Given the description of an element on the screen output the (x, y) to click on. 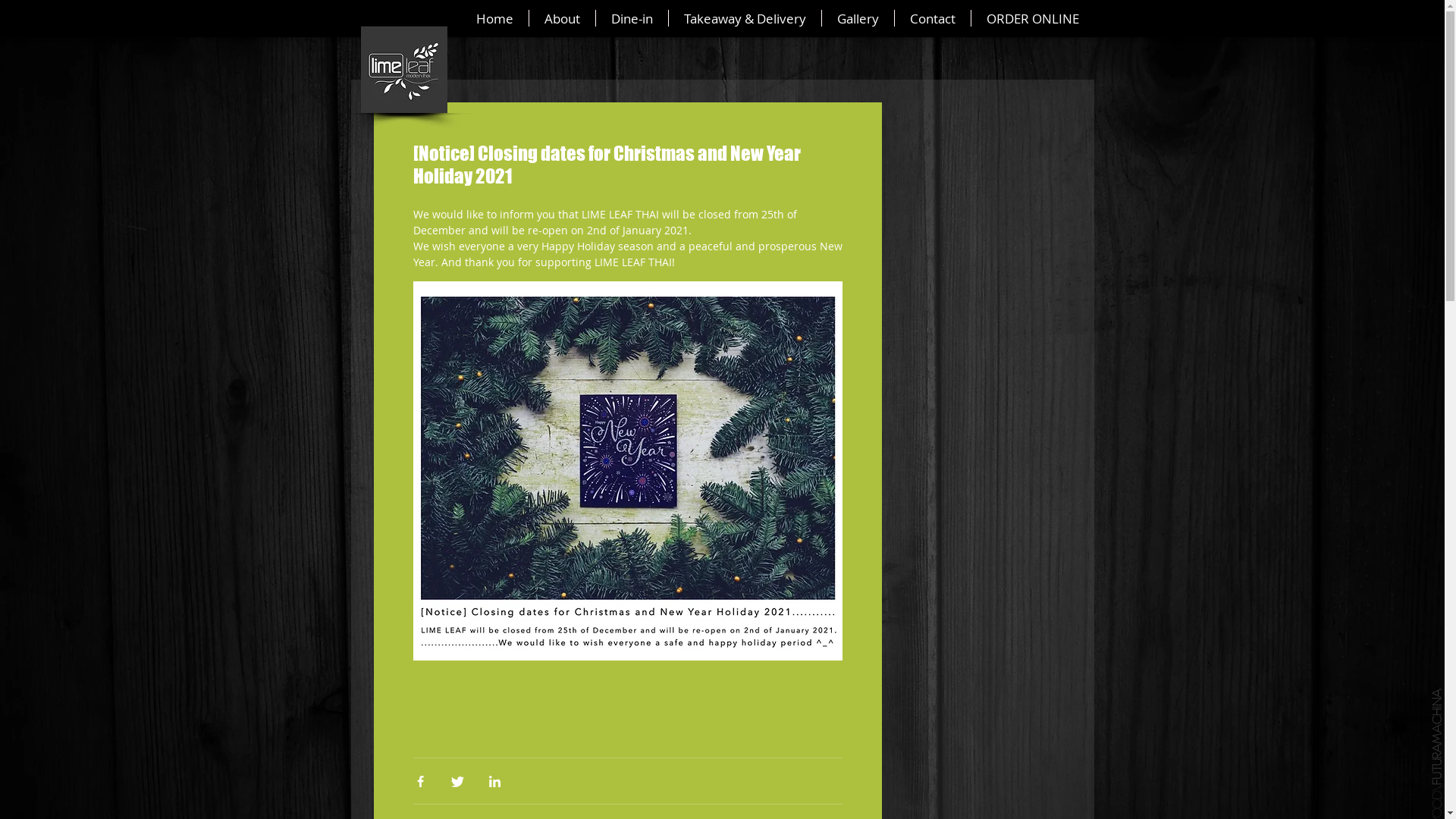
Gallery Element type: text (858, 17)
About Element type: text (562, 17)
ORDER ONLINE Element type: text (1031, 17)
Takeaway & Delivery Element type: text (744, 17)
Contact Element type: text (932, 17)
Dine-in Element type: text (632, 17)
Home Element type: text (494, 17)
